Given the description of an element on the screen output the (x, y) to click on. 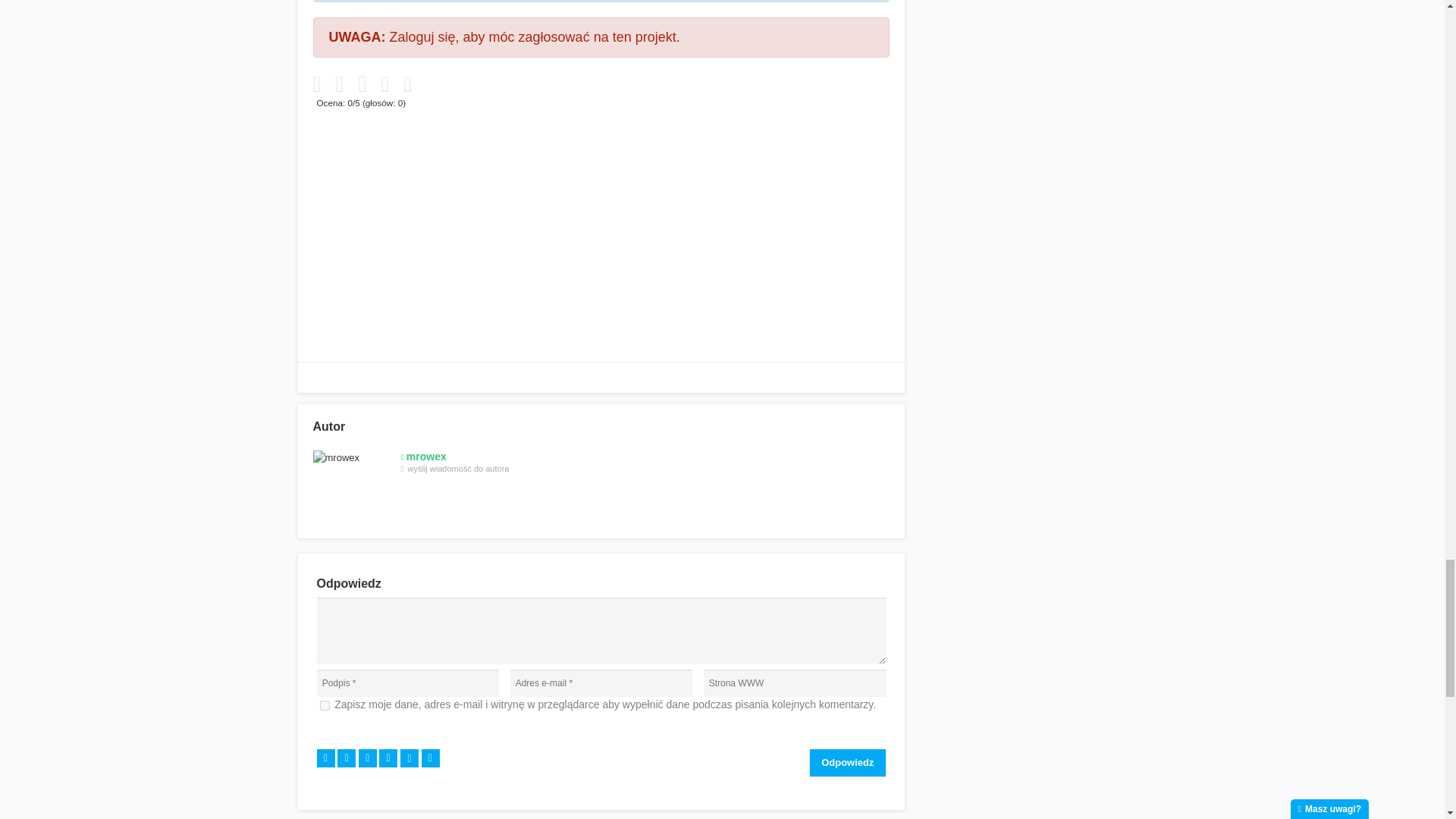
Odpowiedz (847, 762)
yes (325, 705)
